Given the description of an element on the screen output the (x, y) to click on. 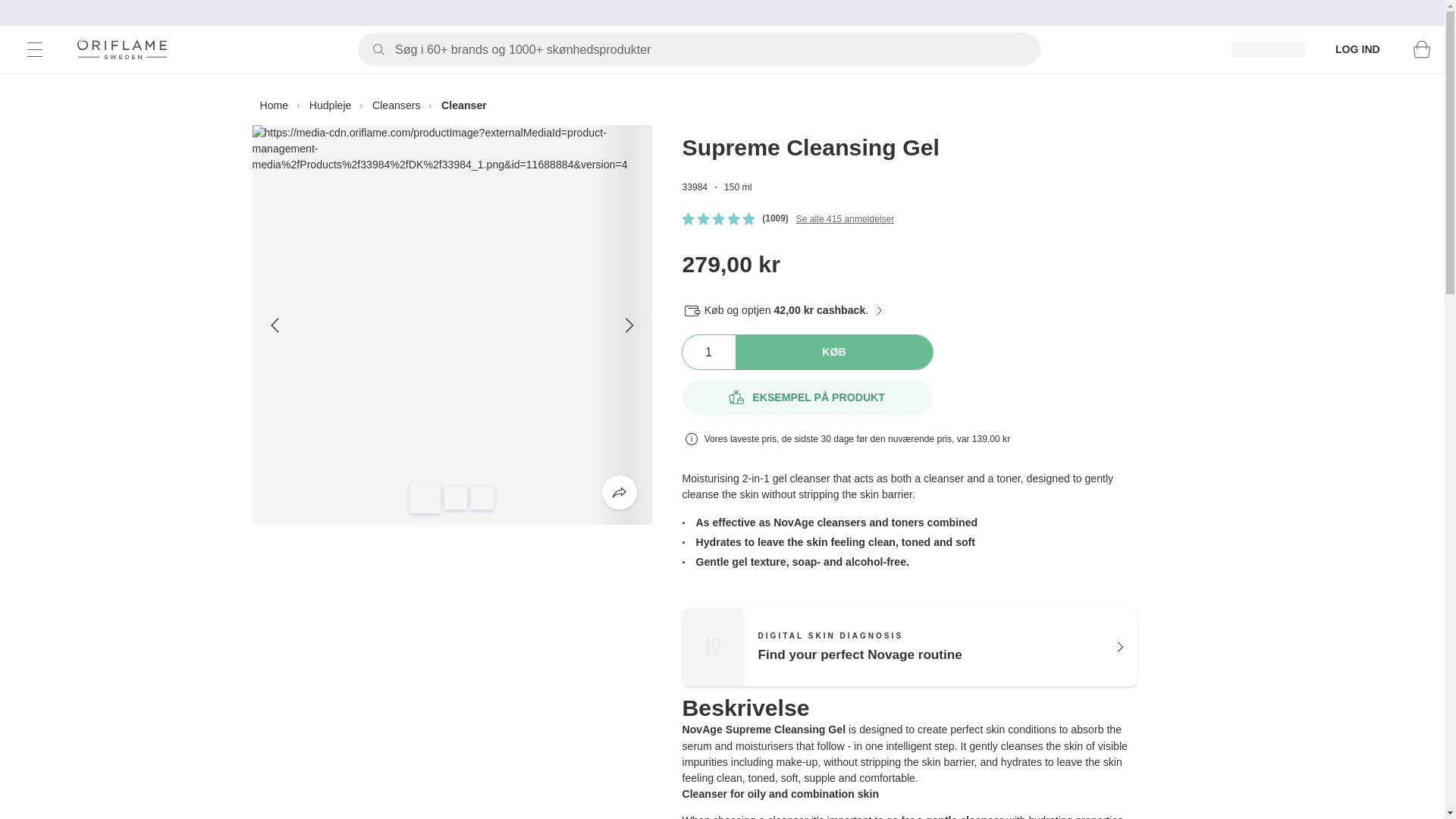
LOG IND (1357, 49)
Hudpleje (330, 105)
Cleanser (909, 647)
1 (463, 105)
NOVAGE (708, 352)
Home (708, 119)
Cleansers (273, 105)
